Given the description of an element on the screen output the (x, y) to click on. 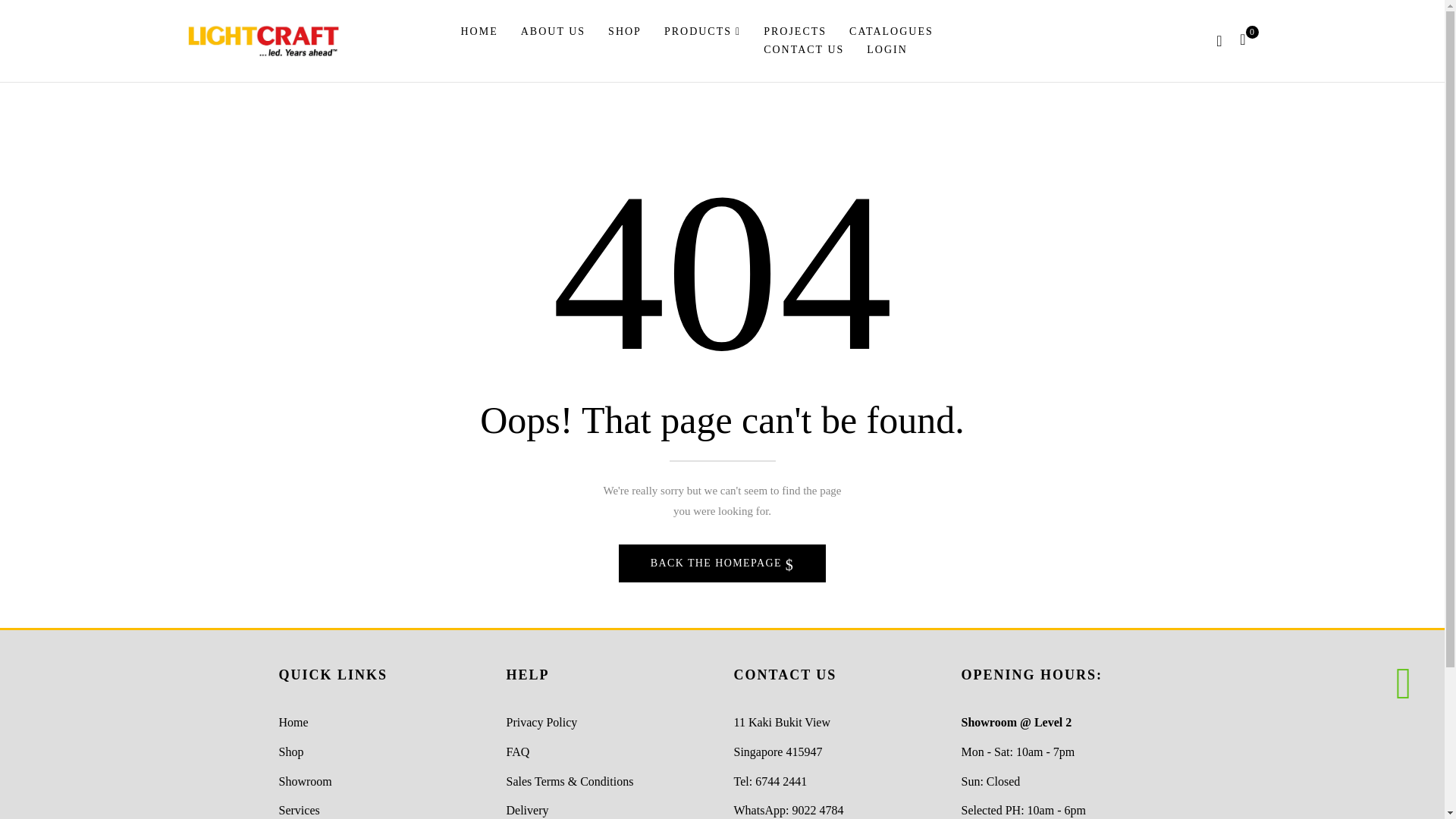
ABOUT US (553, 31)
SHOP (625, 31)
PRODUCTS (702, 31)
HOME (479, 31)
